Given the description of an element on the screen output the (x, y) to click on. 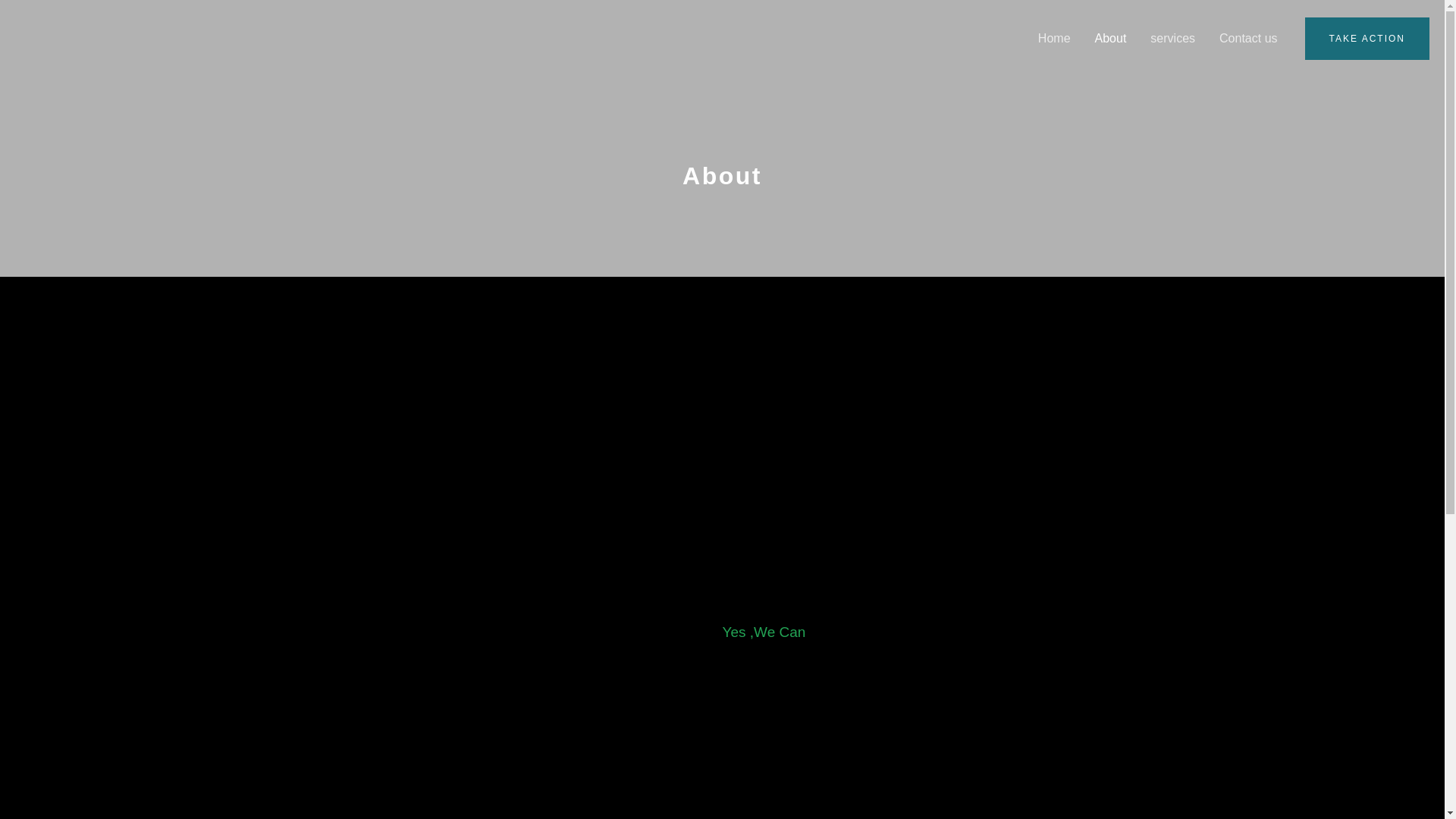
services (1172, 38)
TAKE ACTION (1366, 38)
Contact us (1247, 38)
Home (1054, 38)
About (1110, 38)
